Given the description of an element on the screen output the (x, y) to click on. 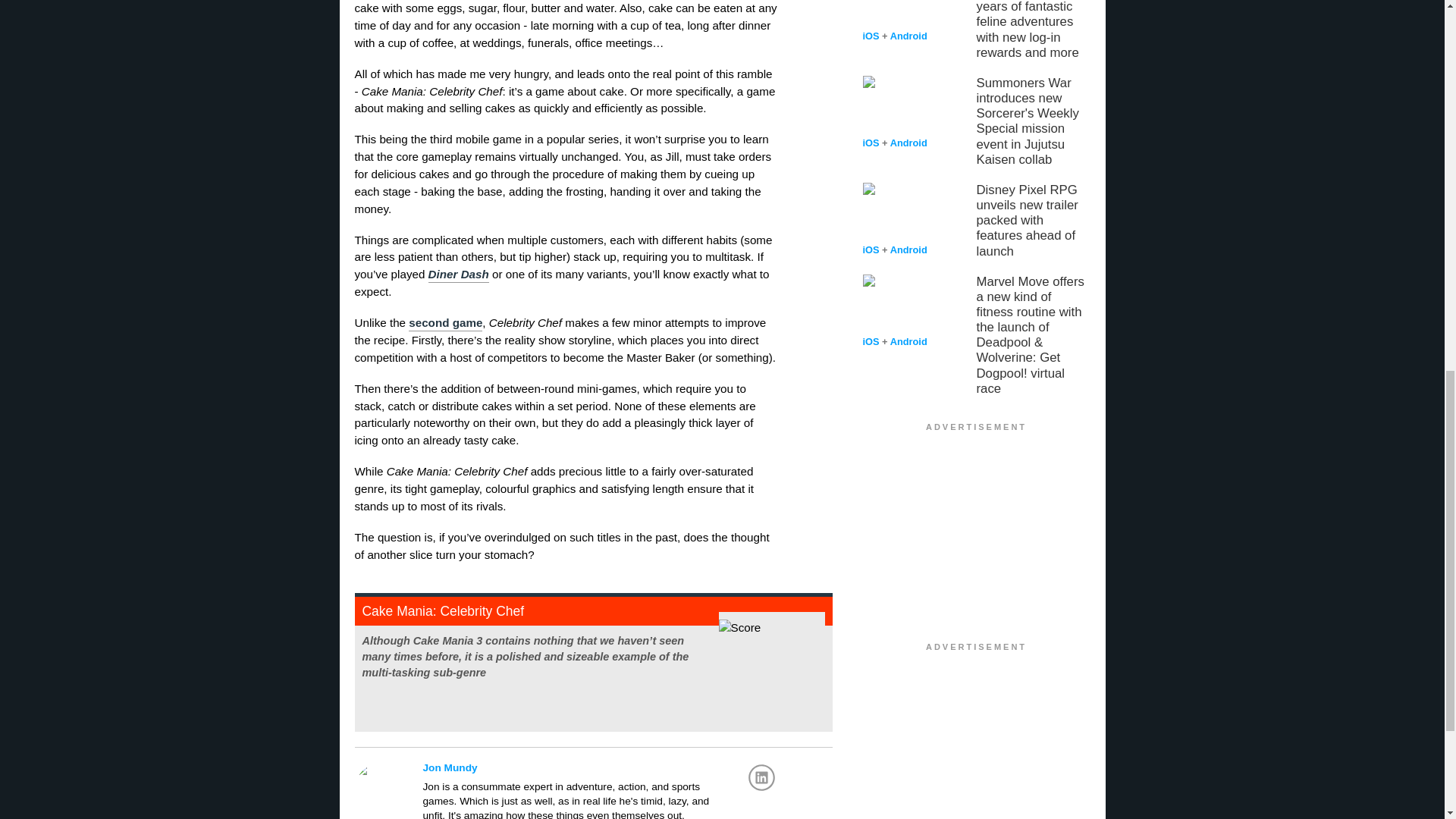
second game (445, 323)
Diner Dash (458, 274)
Jon Mundy (600, 767)
